Given the description of an element on the screen output the (x, y) to click on. 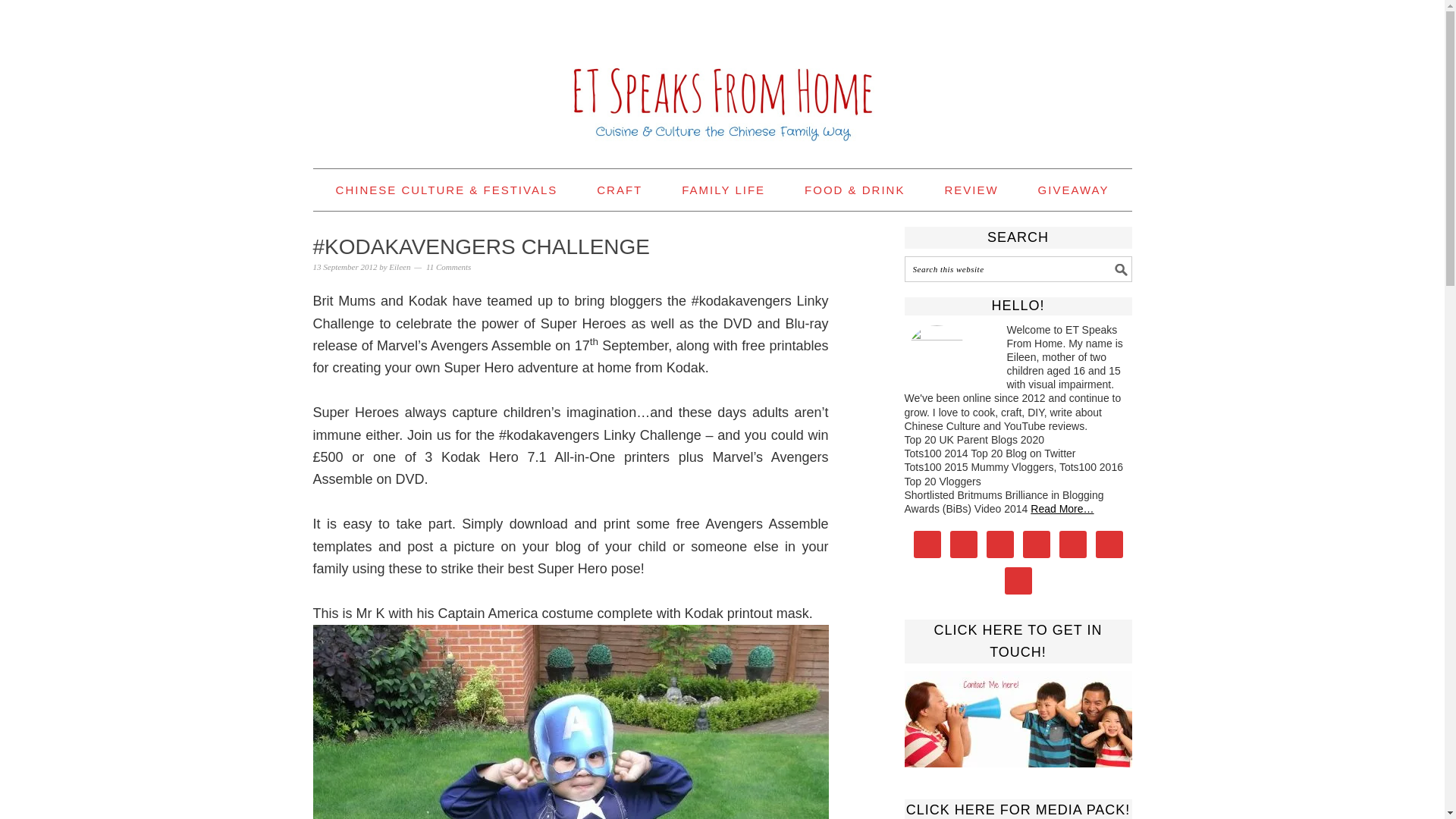
FAMILY LIFE (723, 189)
REVIEW (970, 189)
CRAFT (619, 189)
ET SPEAKS FROM HOME (722, 77)
